Given the description of an element on the screen output the (x, y) to click on. 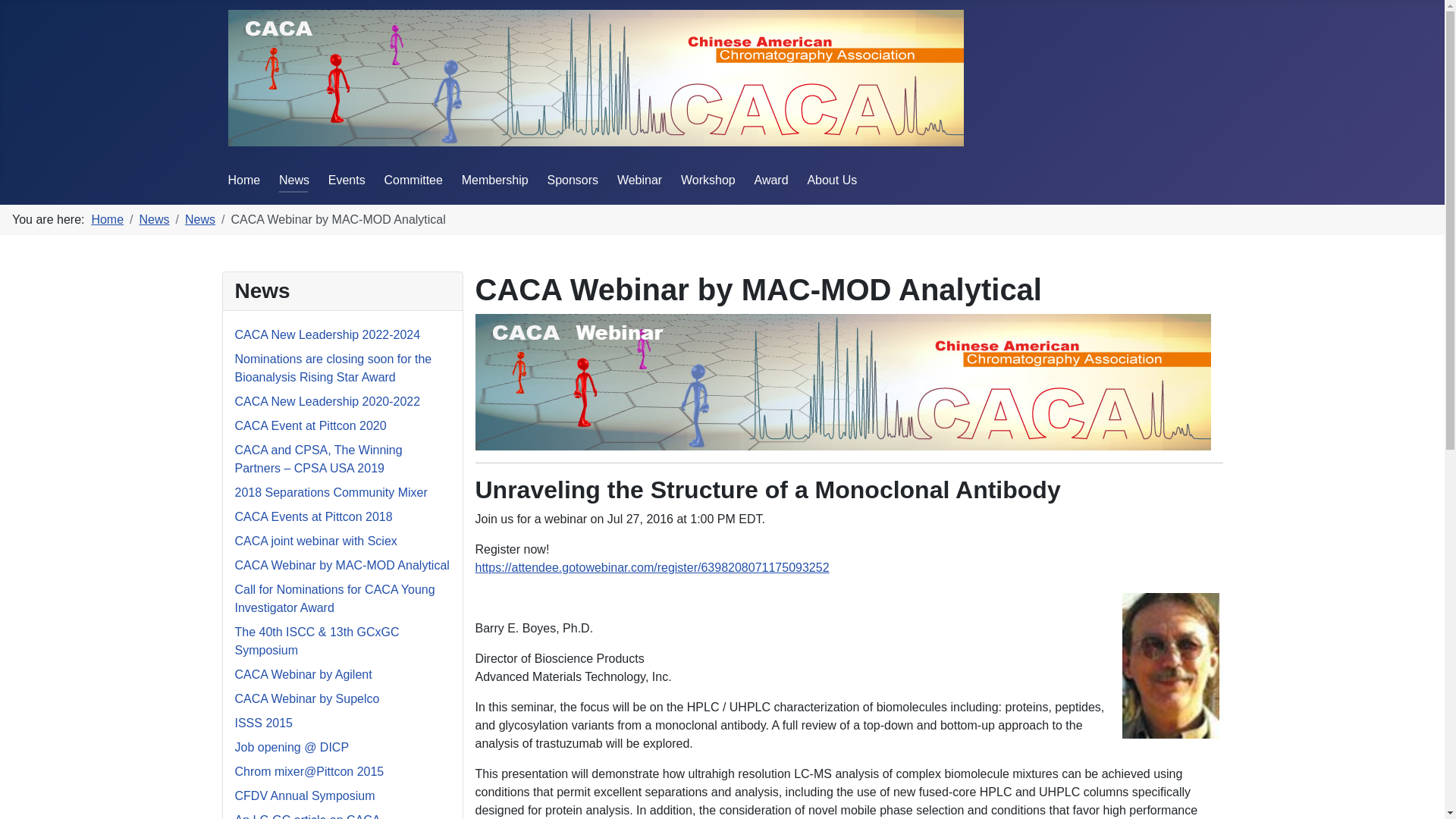
ISSS 2015 (264, 722)
Sponsors (572, 179)
Committee (413, 179)
Award (771, 179)
2018 Separations Community Mixer (331, 492)
CFDV Annual Symposium (304, 795)
CACA New Leadership 2022-2024 (327, 334)
CACA Event at Pittcon 2020 (310, 425)
CACA Webinar by Agilent (303, 674)
CACA Events at Pittcon 2018 (313, 516)
News (293, 179)
An LC-GC article on CACA (307, 816)
Webinar (639, 179)
CACA New Leadership 2020-2022 (327, 400)
